Given the description of an element on the screen output the (x, y) to click on. 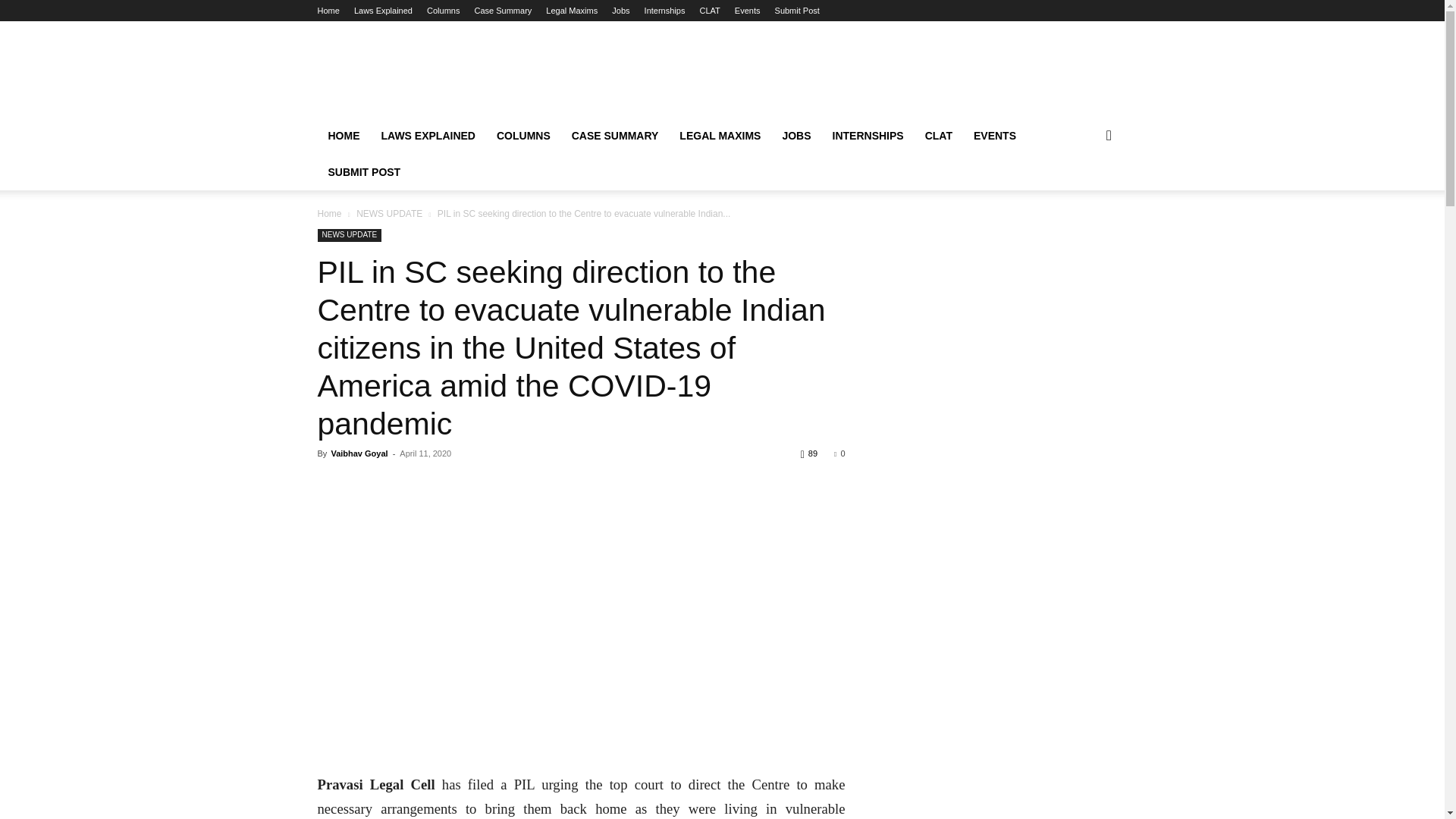
View all posts in NEWS UPDATE (389, 213)
